Given the description of an element on the screen output the (x, y) to click on. 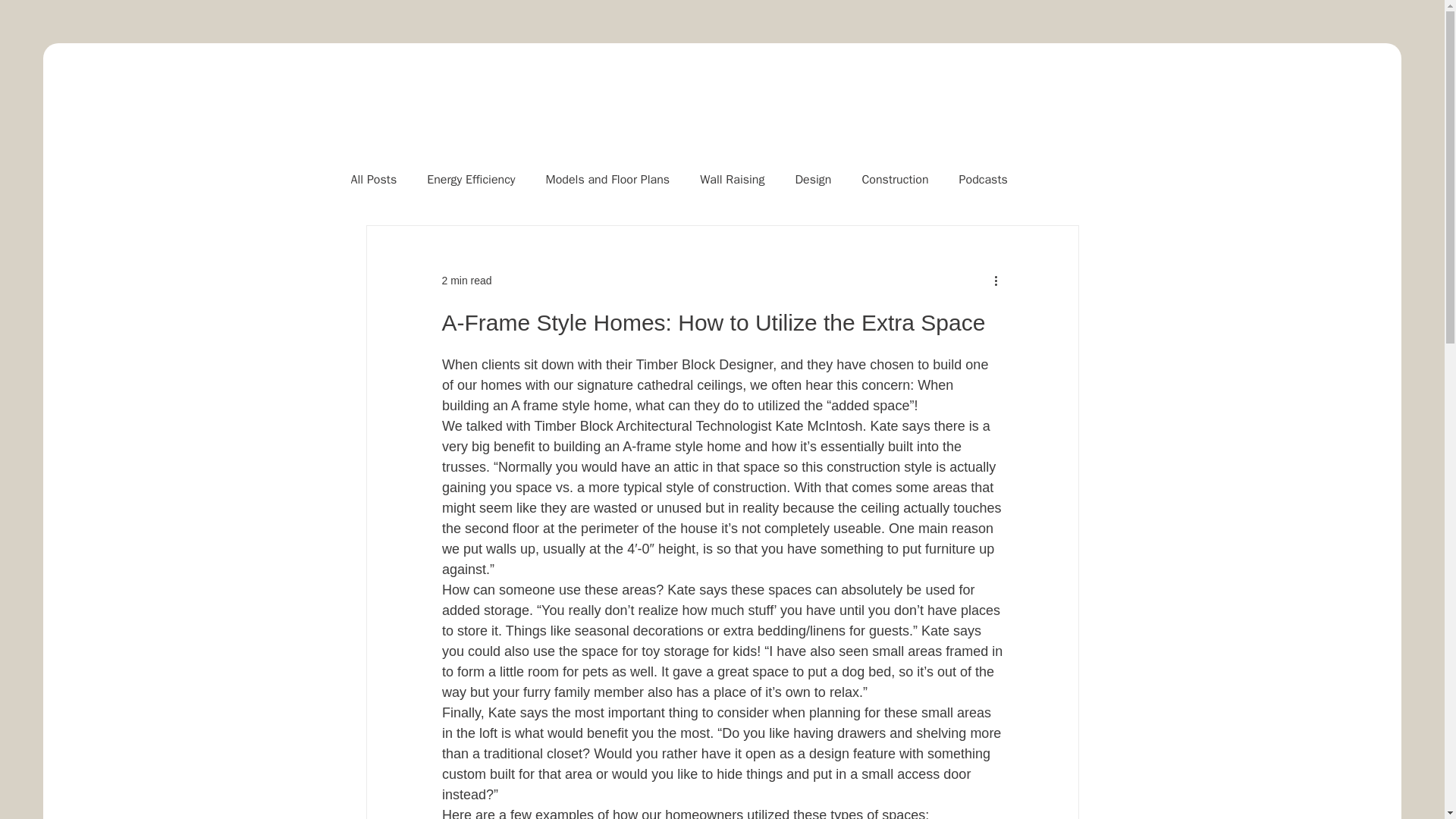
Energy Efficiency (470, 179)
Design (812, 179)
Models and Floor Plans (607, 179)
All Posts (373, 179)
2 min read (466, 280)
Construction (894, 179)
Wall Raising (732, 179)
Podcasts (983, 179)
